Given the description of an element on the screen output the (x, y) to click on. 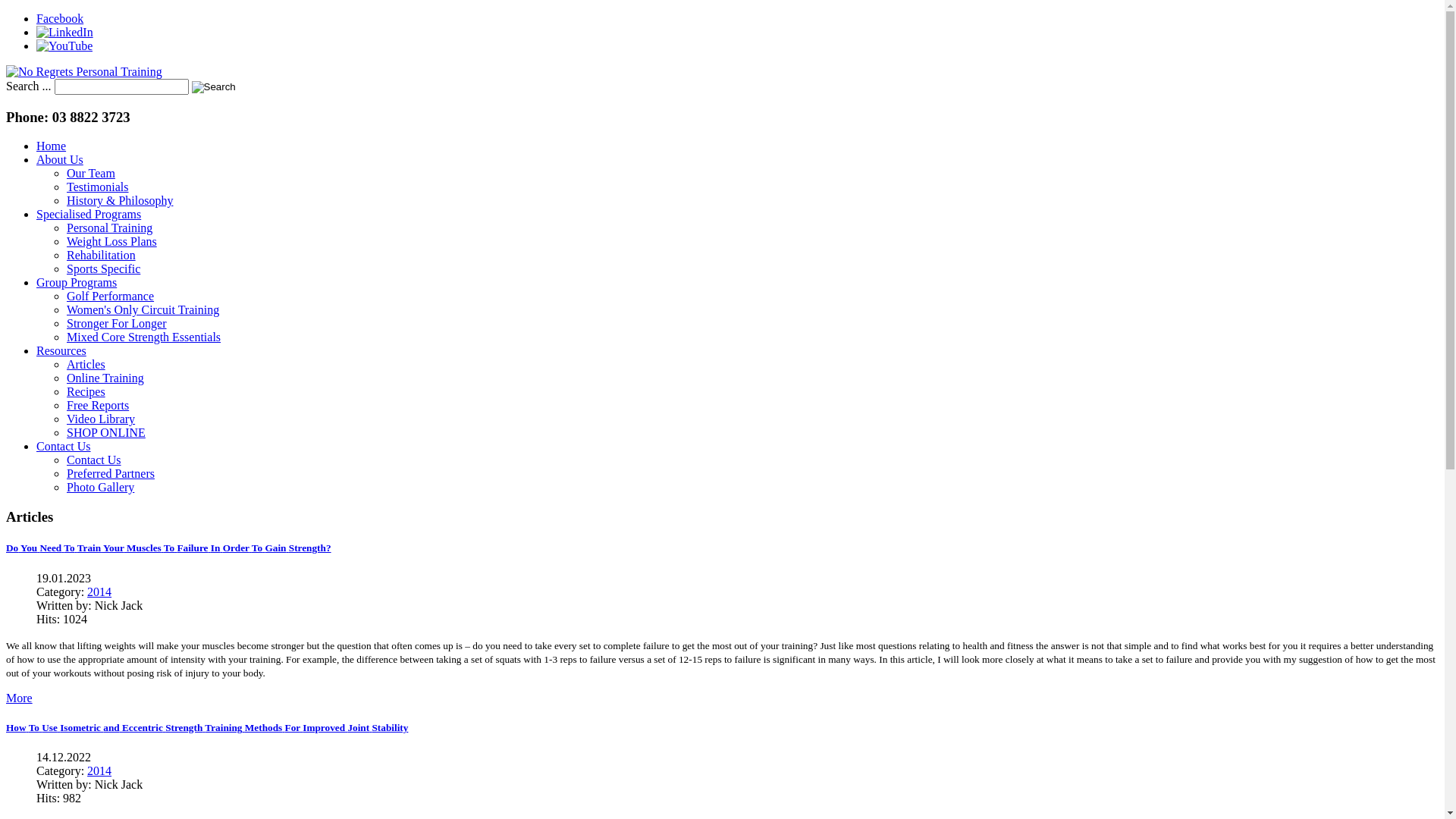
Mixed Core Strength Essentials Element type: text (143, 336)
More Element type: text (19, 697)
Search Element type: text (213, 87)
Stronger For Longer Element type: text (116, 322)
2014 Element type: text (99, 591)
Golf Performance Element type: text (109, 295)
Recipes Element type: text (85, 391)
History & Philosophy Element type: text (119, 200)
Personal Training Element type: text (109, 227)
Home Element type: text (50, 145)
SHOP ONLINE Element type: text (105, 432)
Sports Specific Element type: text (103, 268)
Resources Element type: text (61, 350)
Articles Element type: text (85, 363)
Preferred Partners Element type: text (110, 473)
Contact Us Element type: text (63, 445)
Weight Loss Plans Element type: text (111, 241)
Testimonials Element type: text (97, 186)
Women's Only Circuit Training Element type: text (142, 309)
Our Team Element type: text (90, 172)
Free Reports Element type: text (97, 404)
Facebook Element type: text (59, 18)
About Us Element type: text (59, 159)
Group Programs Element type: text (76, 282)
2014 Element type: text (99, 770)
Rehabilitation Element type: text (100, 254)
Online Training Element type: text (105, 377)
Video Library Element type: text (100, 418)
Specialised Programs Element type: text (88, 213)
Contact Us Element type: text (93, 459)
Photo Gallery Element type: text (100, 486)
